Given the description of an element on the screen output the (x, y) to click on. 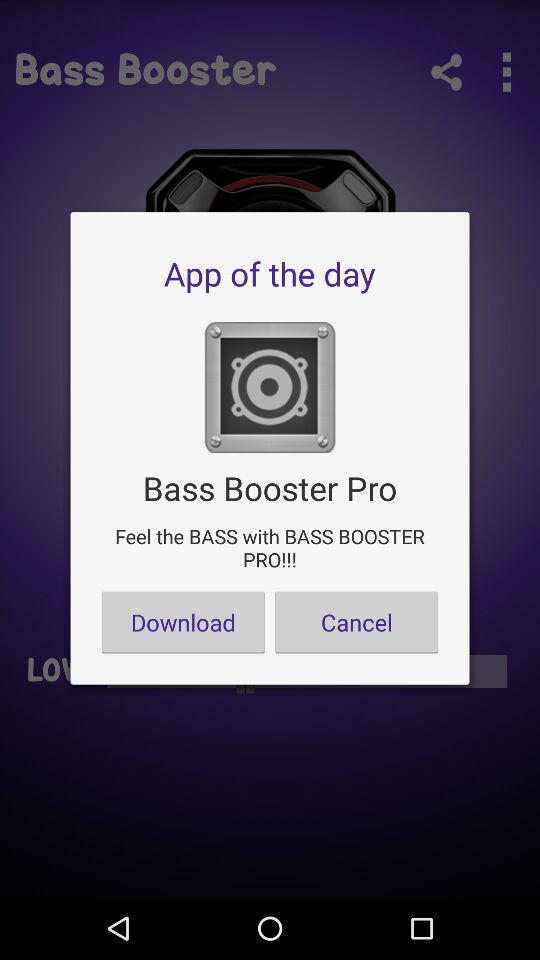
choose the cancel button (356, 622)
